Given the description of an element on the screen output the (x, y) to click on. 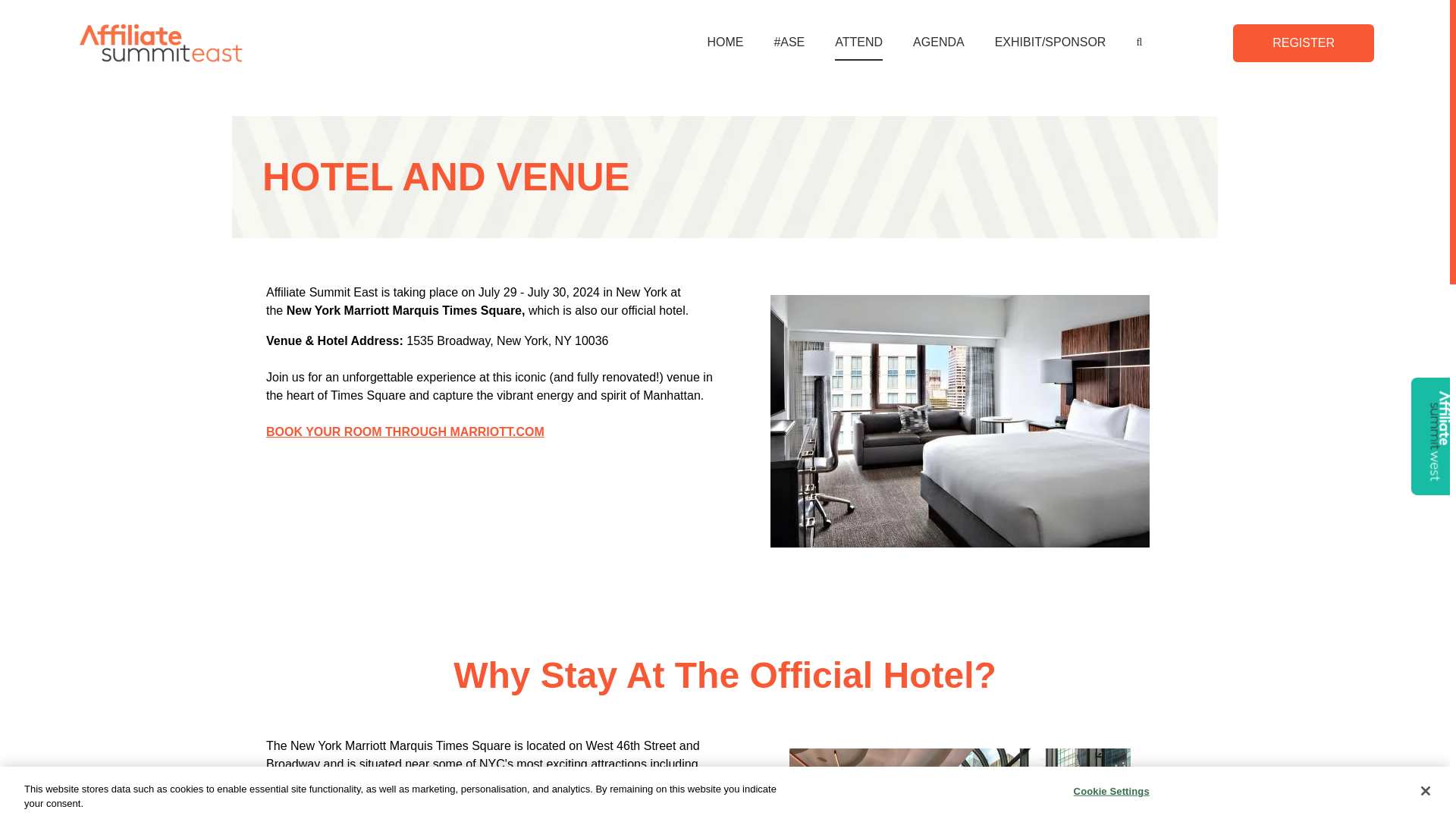
HOME (724, 42)
ATTEND (858, 42)
AGENDA (937, 42)
east (164, 42)
HOME (724, 42)
ATTEND (858, 42)
